Given the description of an element on the screen output the (x, y) to click on. 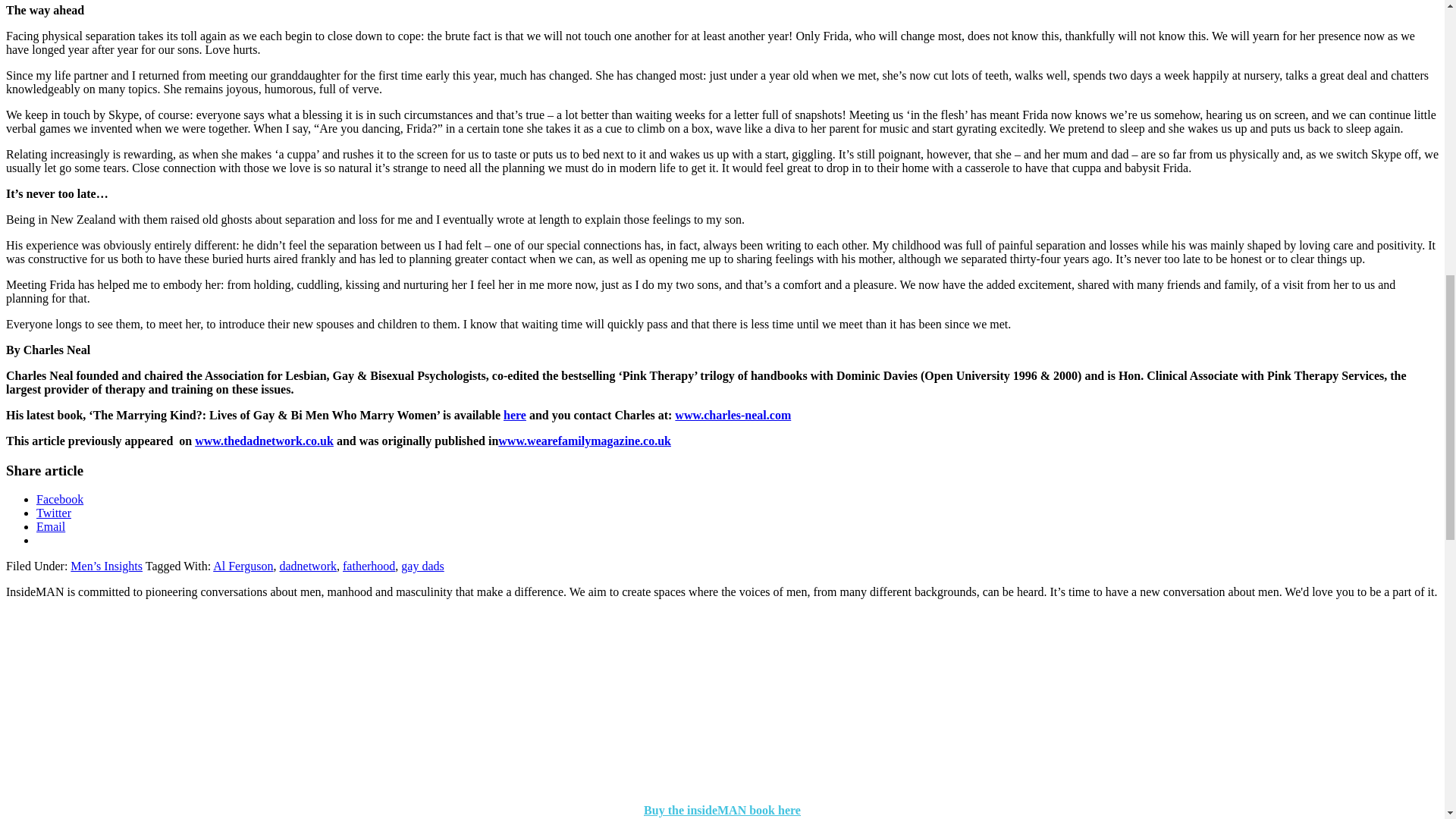
Facebook (59, 499)
www.wearefamilymagazine.co.uk (584, 440)
www.charles-neal.com (732, 414)
fatherhood (368, 565)
gay dads (422, 565)
Click to share on Twitter (53, 512)
Al Ferguson (242, 565)
Click to share on Facebook (59, 499)
Buy the insideMAN book here (721, 809)
www.thedadnetwork.co.uk (264, 440)
